Given the description of an element on the screen output the (x, y) to click on. 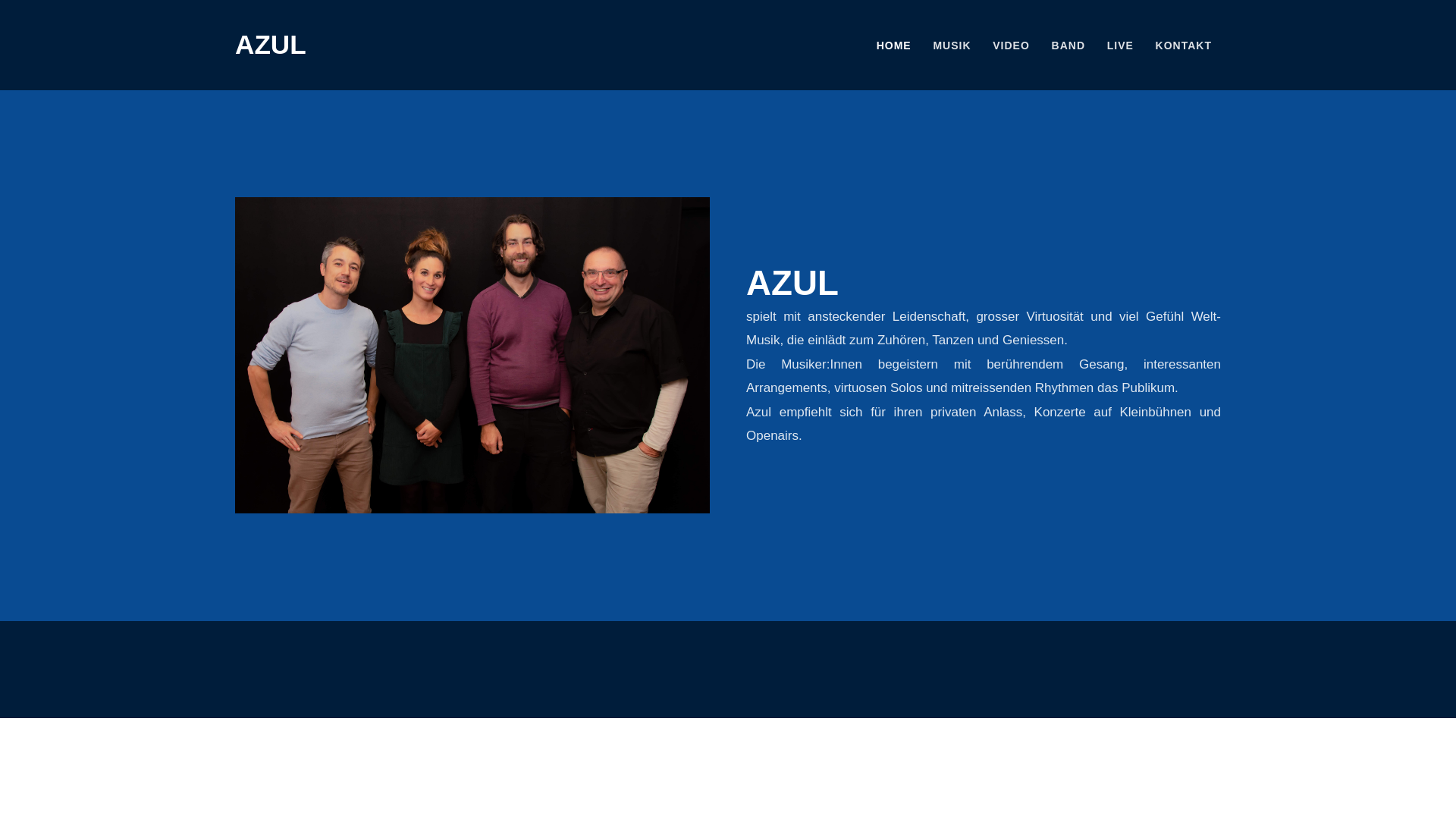
VIDEO Element type: text (1010, 45)
AZUL Element type: text (270, 44)
KONTAKT Element type: text (1183, 45)
LIVE Element type: text (1120, 45)
HOME Element type: text (893, 45)
MUSIK Element type: text (951, 45)
BAND Element type: text (1068, 45)
